Given the description of an element on the screen output the (x, y) to click on. 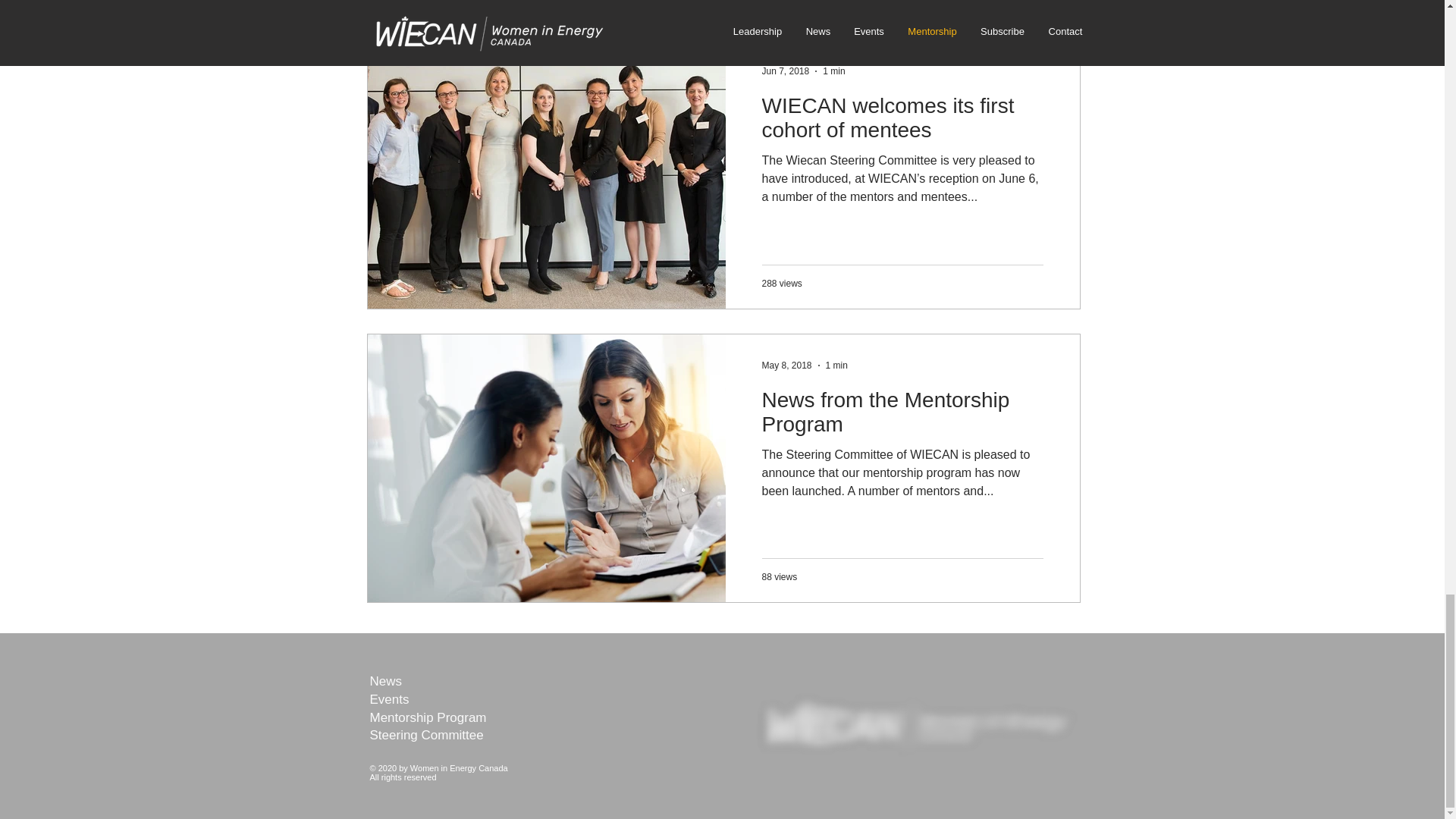
Events (389, 699)
WIECAN welcomes its first cohort of mentees (901, 122)
Steering Committee (426, 735)
May 8, 2018 (785, 365)
1 min (833, 71)
1 min (836, 365)
News (386, 681)
Jun 7, 2018 (785, 71)
News from the Mentorship Program (901, 416)
Mentorship Program (427, 717)
